Given the description of an element on the screen output the (x, y) to click on. 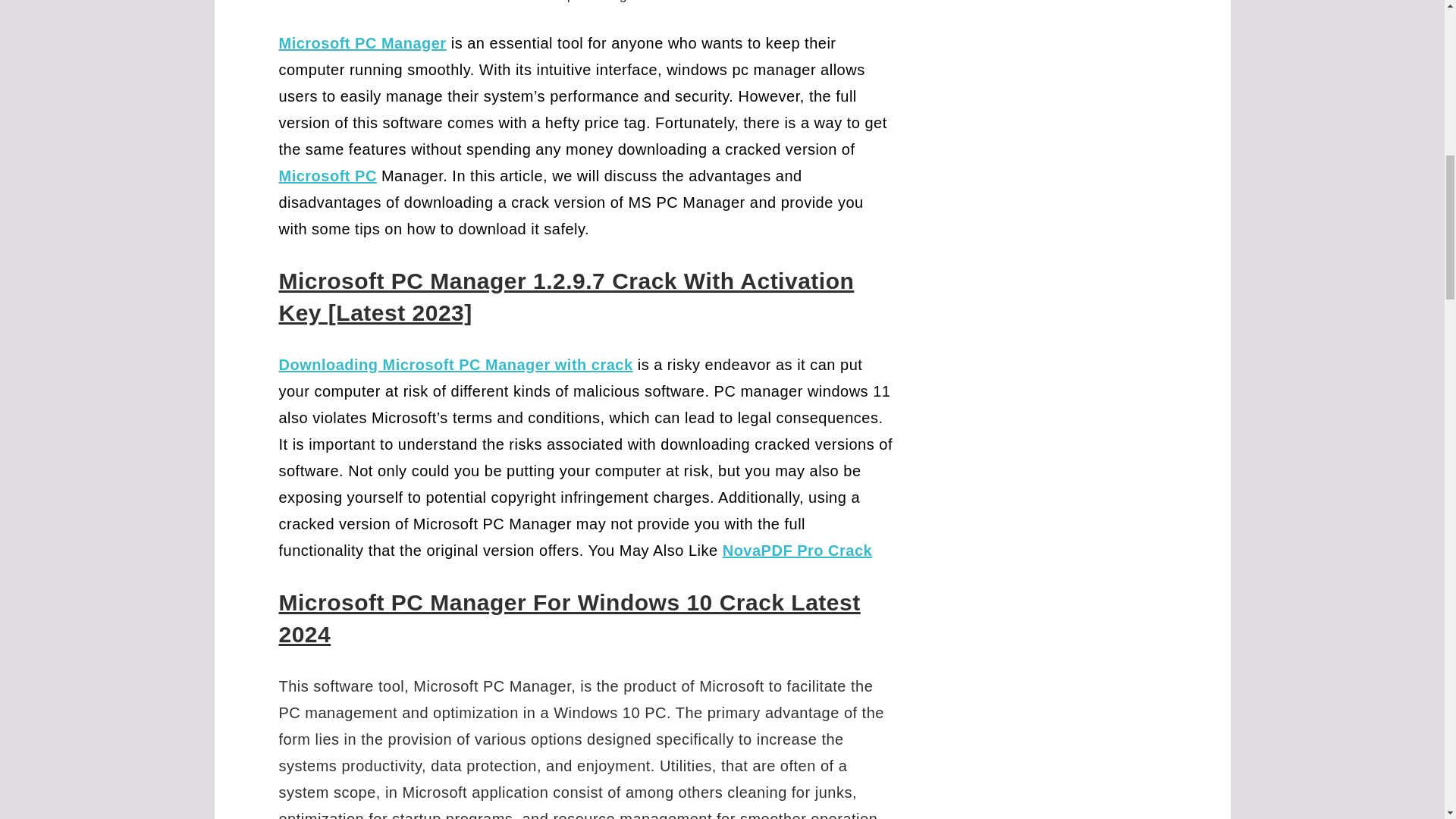
Microsoft PC (328, 175)
Microsoft PC Manager (362, 43)
Downloading Microsoft PC Manager with crack (456, 364)
NovaPDF Pro Crack (797, 549)
